Given the description of an element on the screen output the (x, y) to click on. 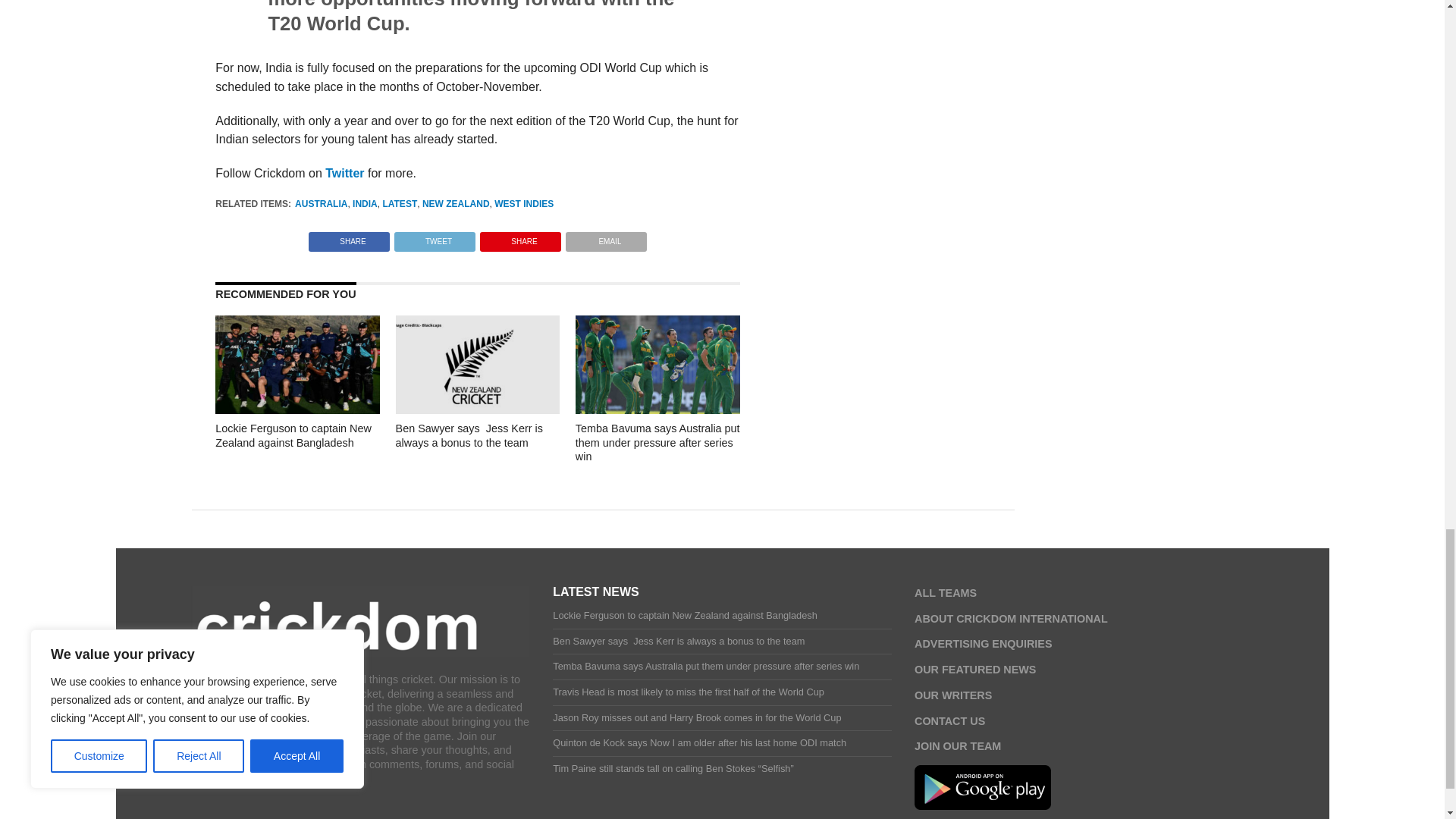
Share on Facebook (349, 237)
Lockie Ferguson to captain New Zealand against Bangladesh (297, 409)
Pin This Post (520, 237)
Tweet This Post (434, 237)
